Given the description of an element on the screen output the (x, y) to click on. 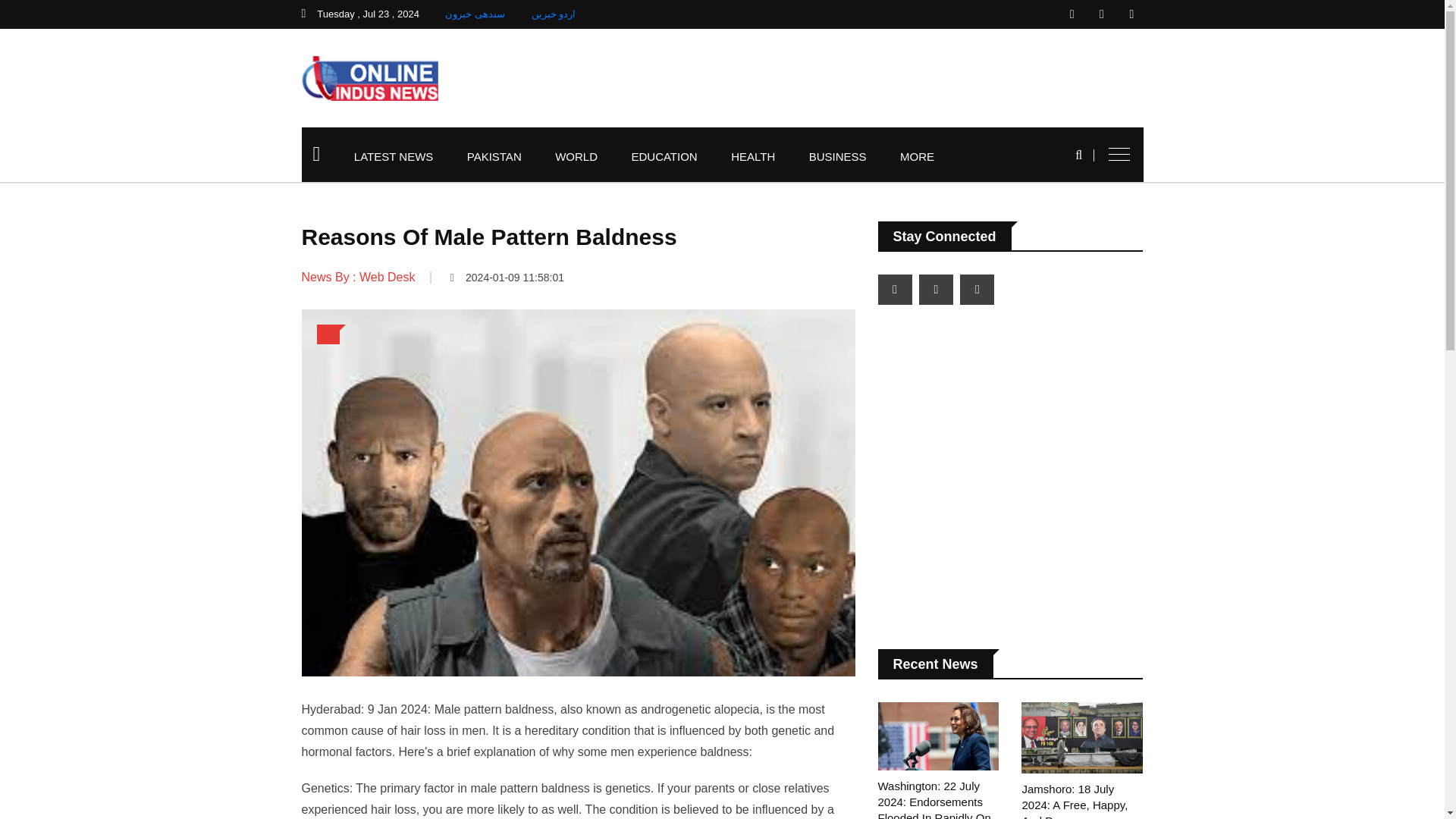
PAKISTAN (494, 156)
Advertisement (866, 78)
Advertisement (1010, 479)
twitter (1101, 14)
youtube (1130, 14)
LATEST NEWS (393, 156)
WORLD (576, 156)
HEALTH (753, 156)
2024-01-09 11:58:01 (506, 277)
facebook (1072, 14)
MORE (917, 156)
EDUCATION (663, 156)
BUSINESS (837, 156)
